Given the description of an element on the screen output the (x, y) to click on. 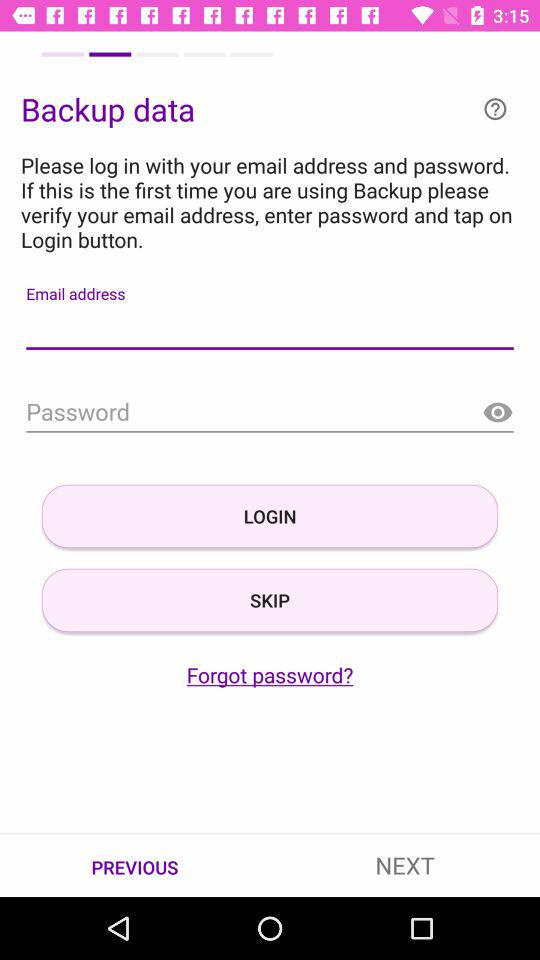
enter password (270, 412)
